Given the description of an element on the screen output the (x, y) to click on. 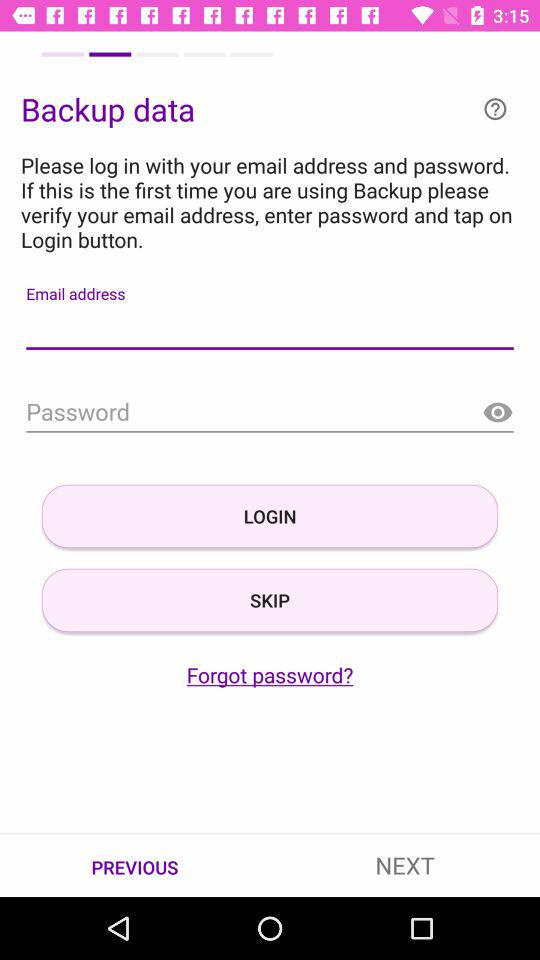
enter password (270, 412)
